Given the description of an element on the screen output the (x, y) to click on. 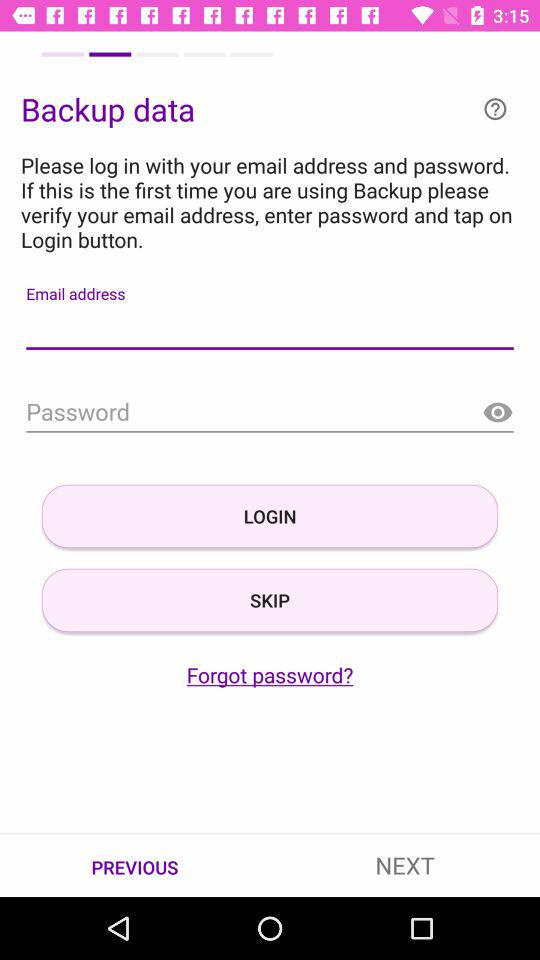
enter password (270, 412)
